Given the description of an element on the screen output the (x, y) to click on. 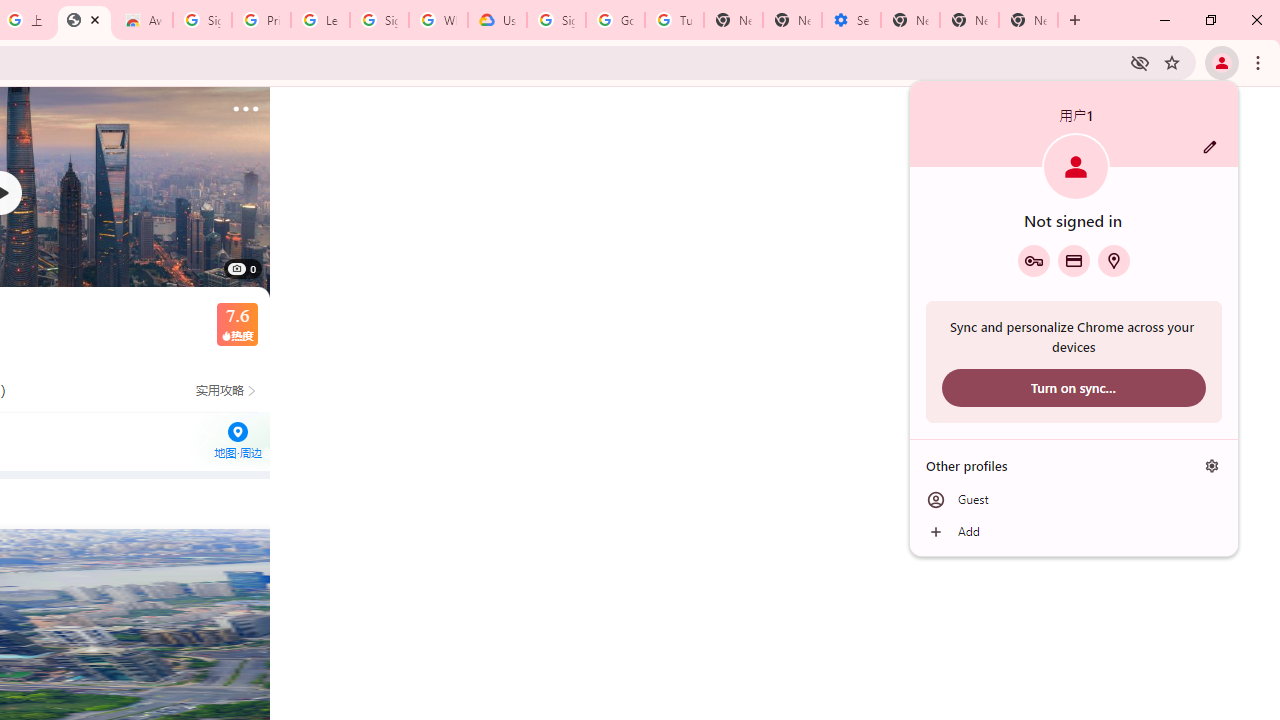
Turn cookies on or off - Computer - Google Account Help (674, 20)
Payment methods (1074, 260)
Google Password Manager (1033, 260)
Add (1073, 531)
Sign in - Google Accounts (201, 20)
New Tab (1028, 20)
Awesome Screen Recorder & Screenshot - Chrome Web Store (142, 20)
Customize profile (1210, 147)
